Given the description of an element on the screen output the (x, y) to click on. 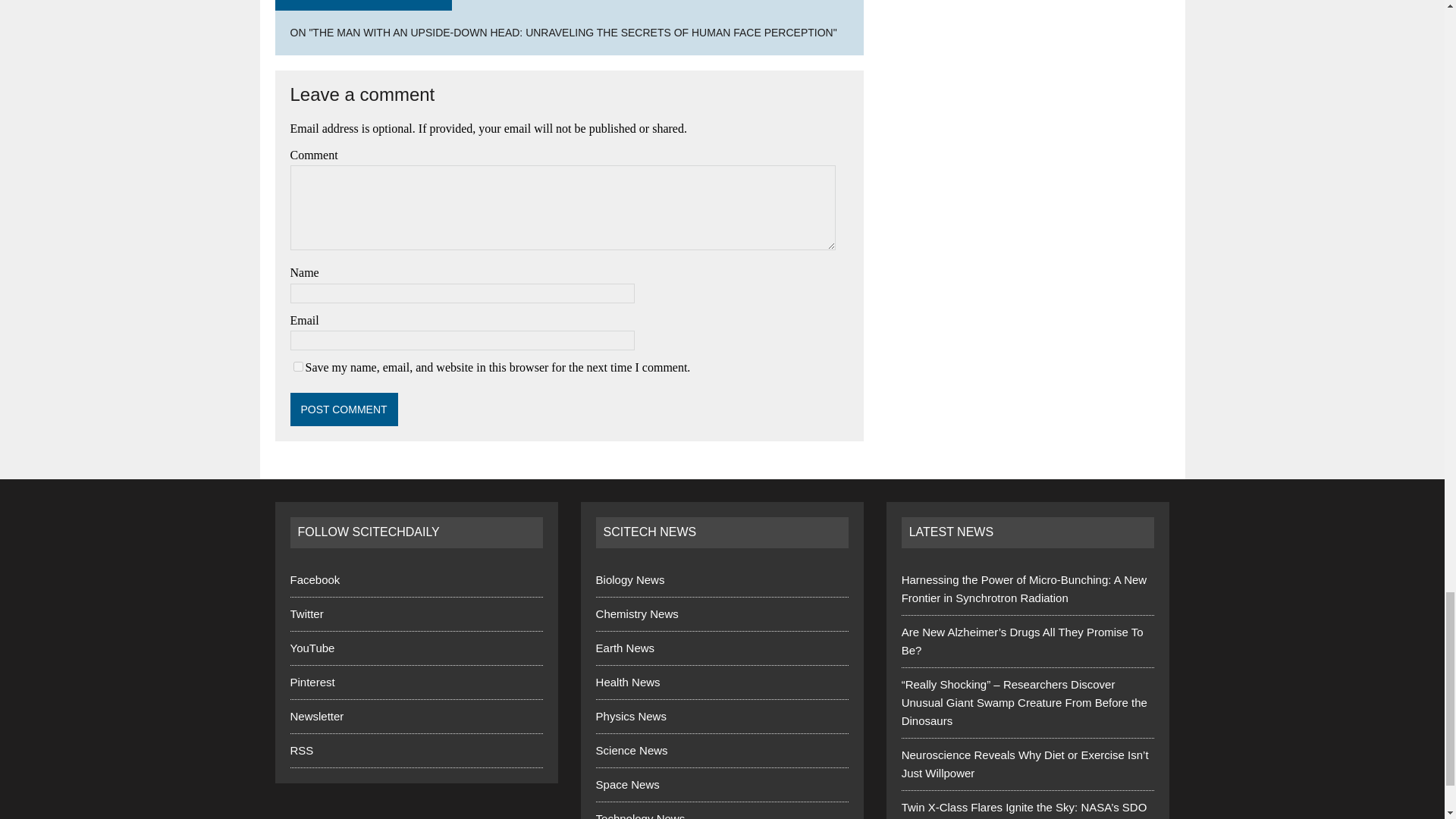
yes (297, 366)
Post Comment (343, 409)
